Given the description of an element on the screen output the (x, y) to click on. 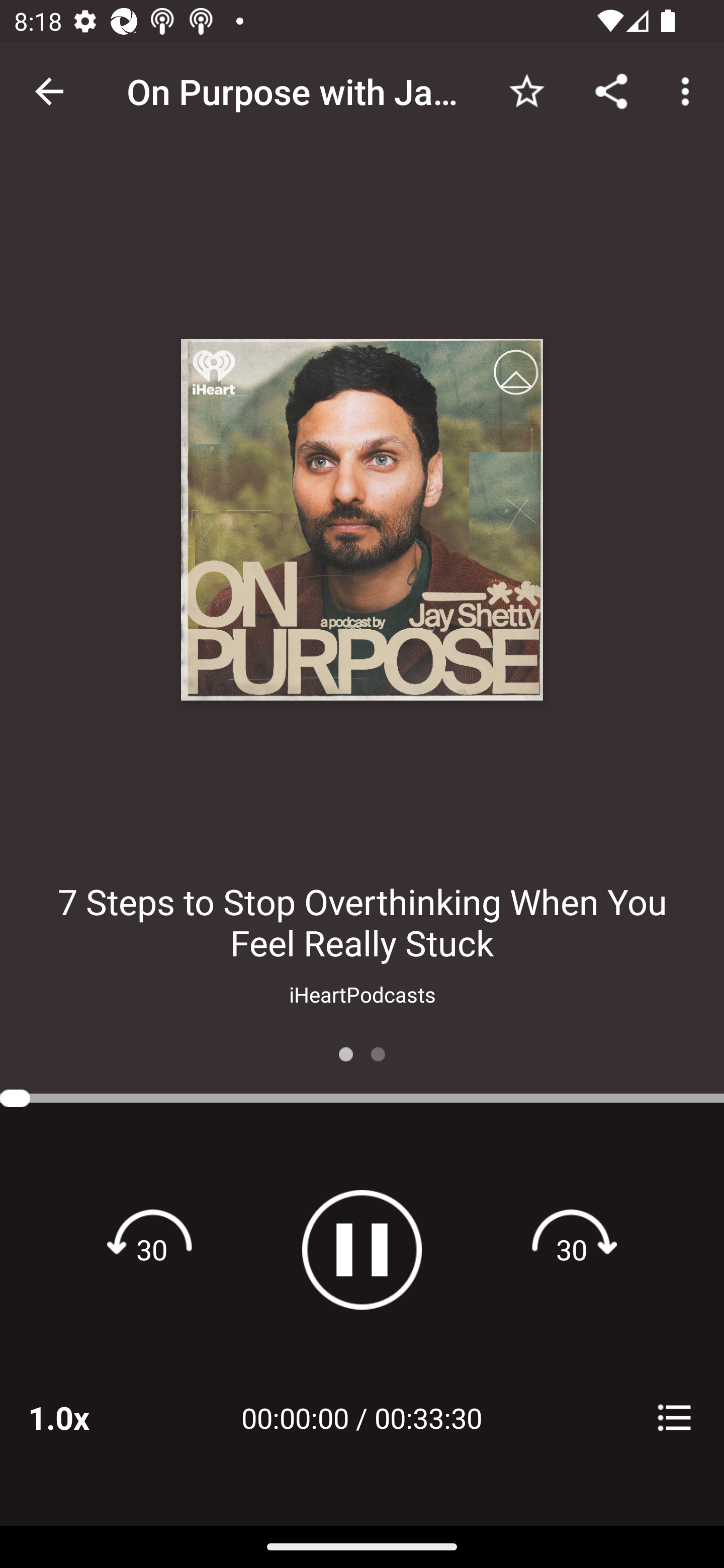
Navigate up (49, 91)
Add to Favorites (526, 90)
Share... (611, 90)
More options (688, 90)
iHeartPodcasts (361, 994)
Pause (361, 1249)
Rewind (151, 1249)
Fast forward (571, 1249)
1.0x Playback Speeds (84, 1417)
00:33:30 (428, 1417)
